Given the description of an element on the screen output the (x, y) to click on. 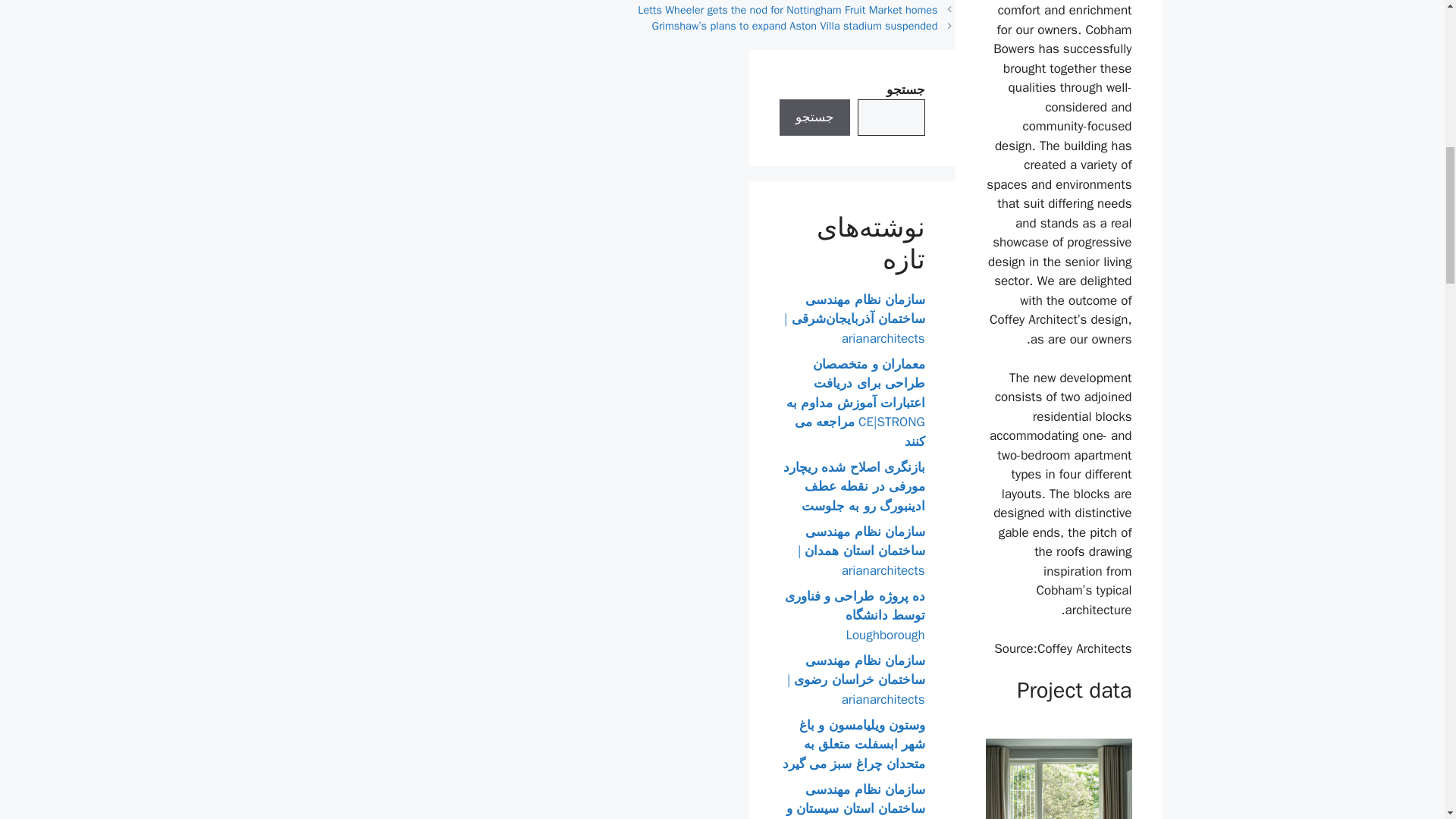
Letts Wheeler gets the nod for Nottingham Fruit Market homes (787, 9)
